Given the description of an element on the screen output the (x, y) to click on. 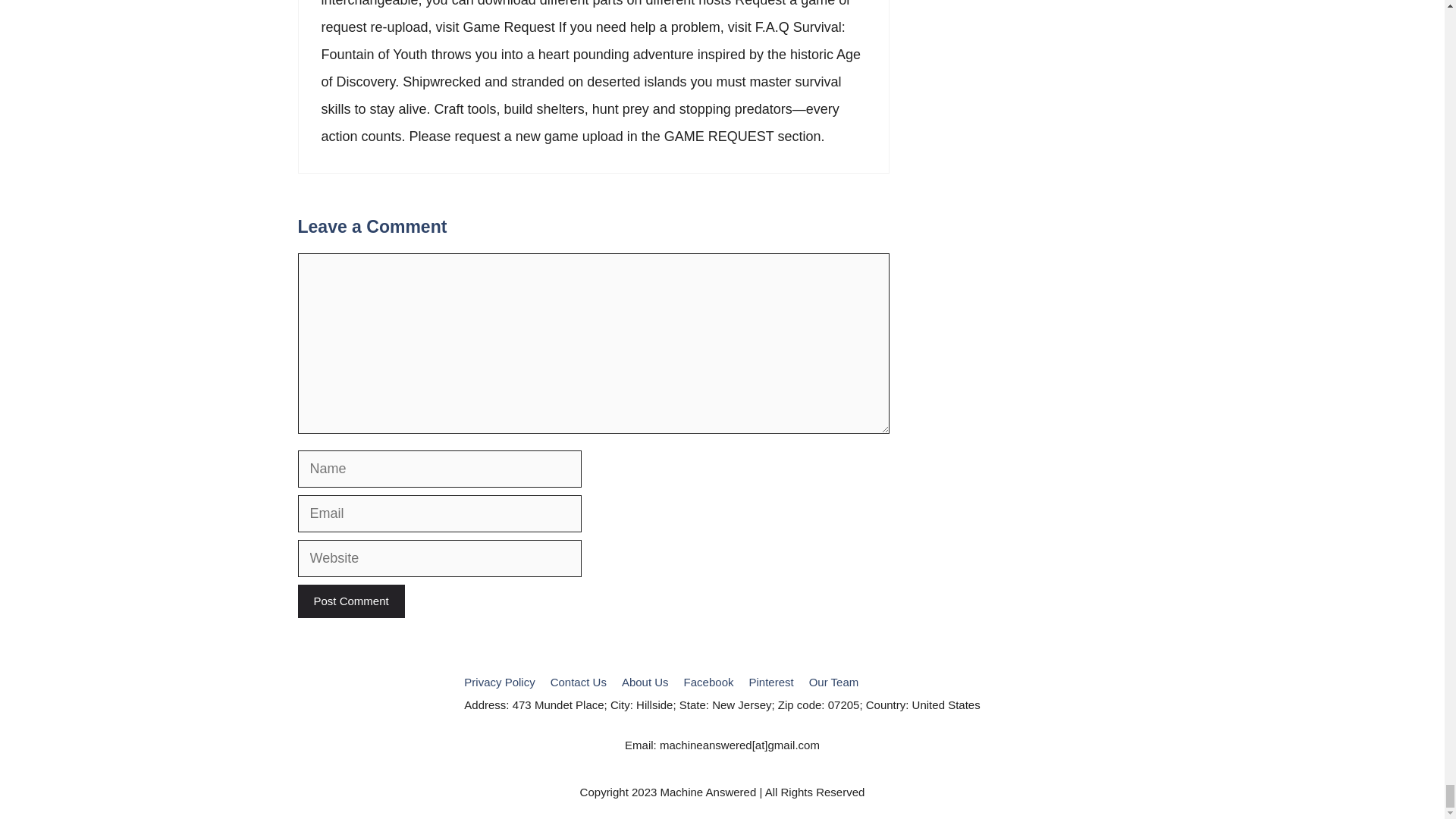
Post Comment (350, 601)
